Given the description of an element on the screen output the (x, y) to click on. 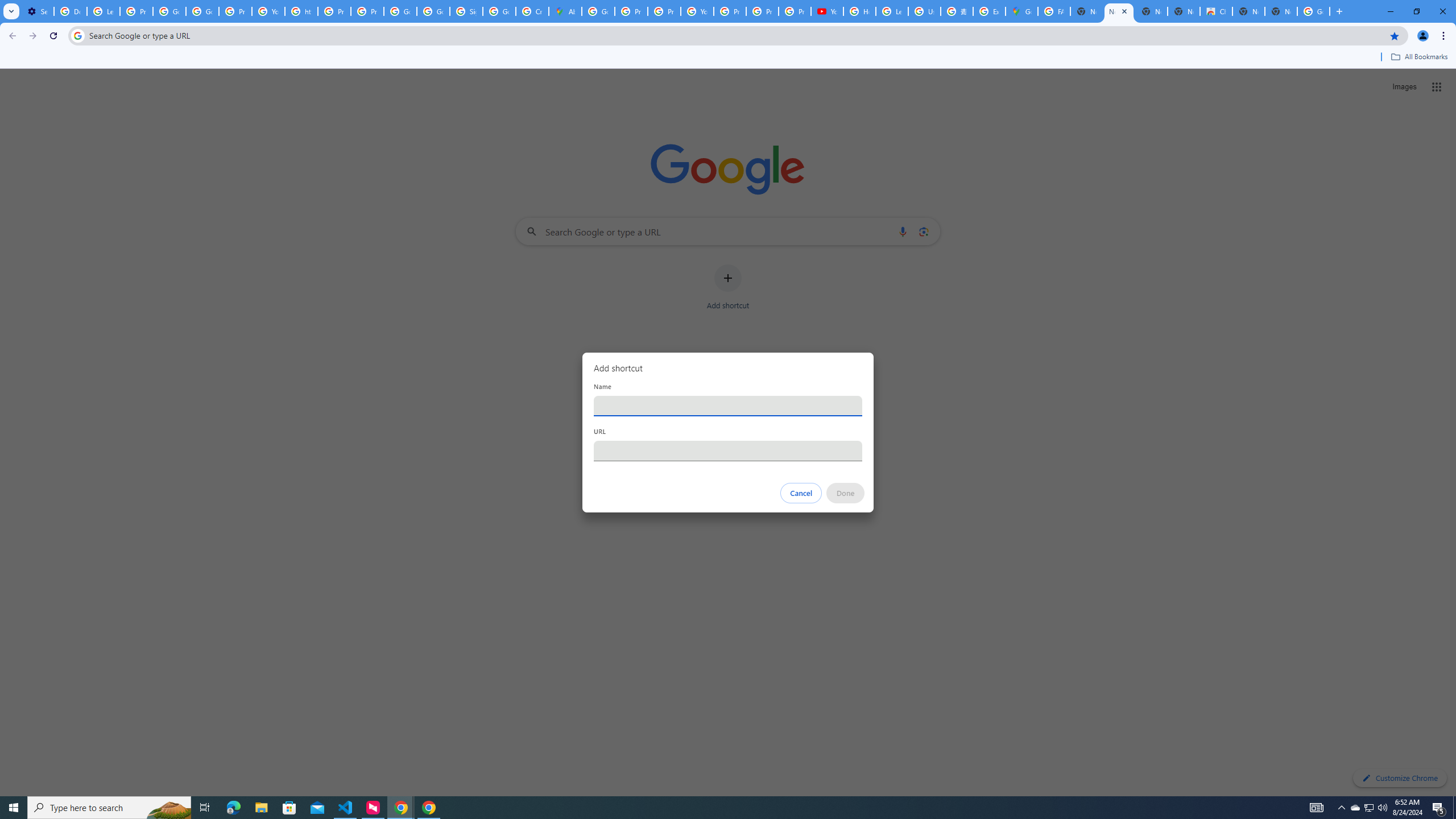
Done (845, 493)
Privacy Checkup (762, 11)
Sign in - Google Accounts (465, 11)
